Given the description of an element on the screen output the (x, y) to click on. 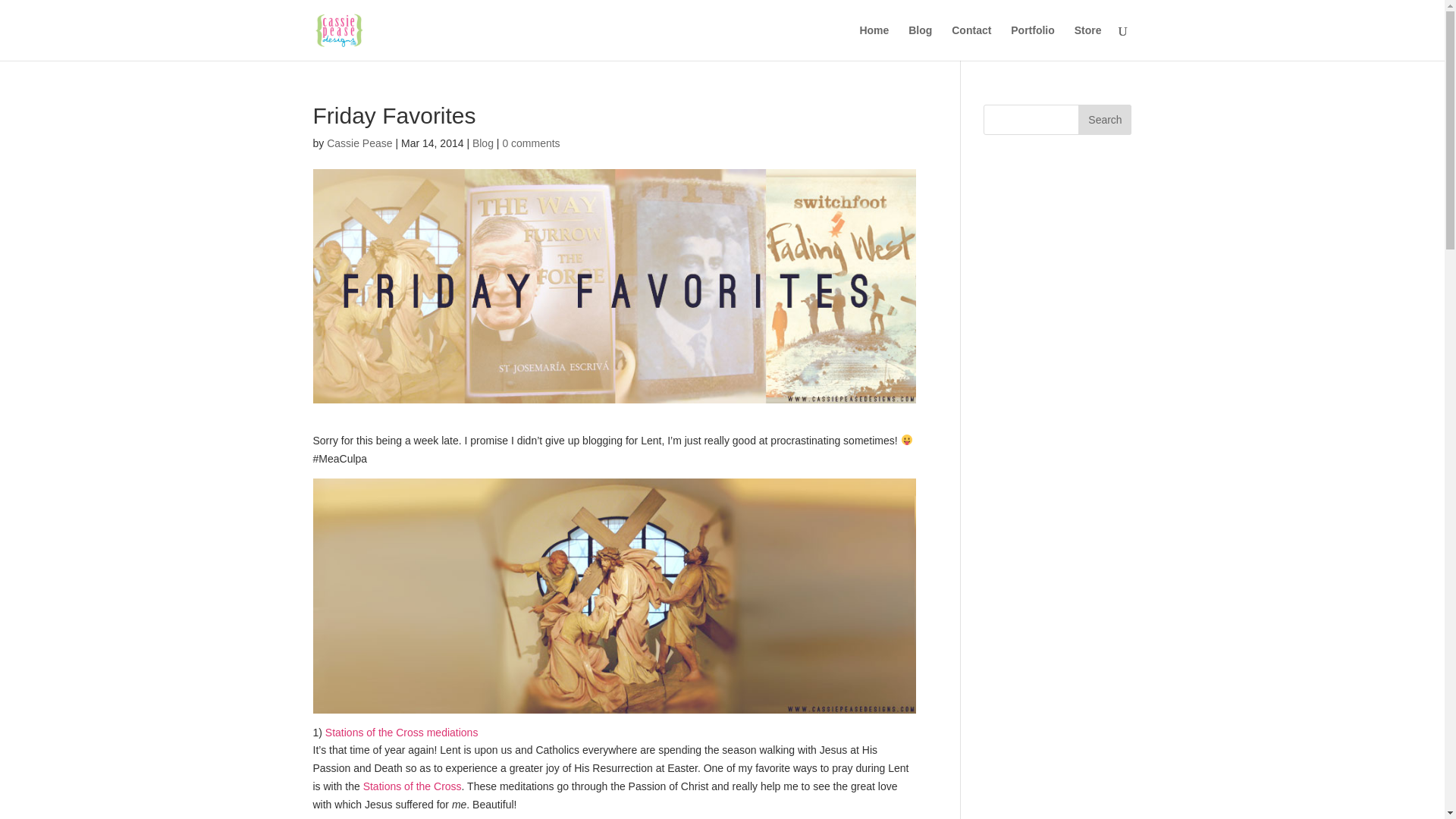
0 comments (530, 143)
Posts by Cassie Pease (358, 143)
Portfolio (1032, 42)
Stations of the Cross (411, 786)
Stations of the Cross (411, 786)
Contact (971, 42)
Blog (482, 143)
Stations of the Cross (401, 732)
Stations of the Cross mediations (401, 732)
Search (1104, 119)
